Given the description of an element on the screen output the (x, y) to click on. 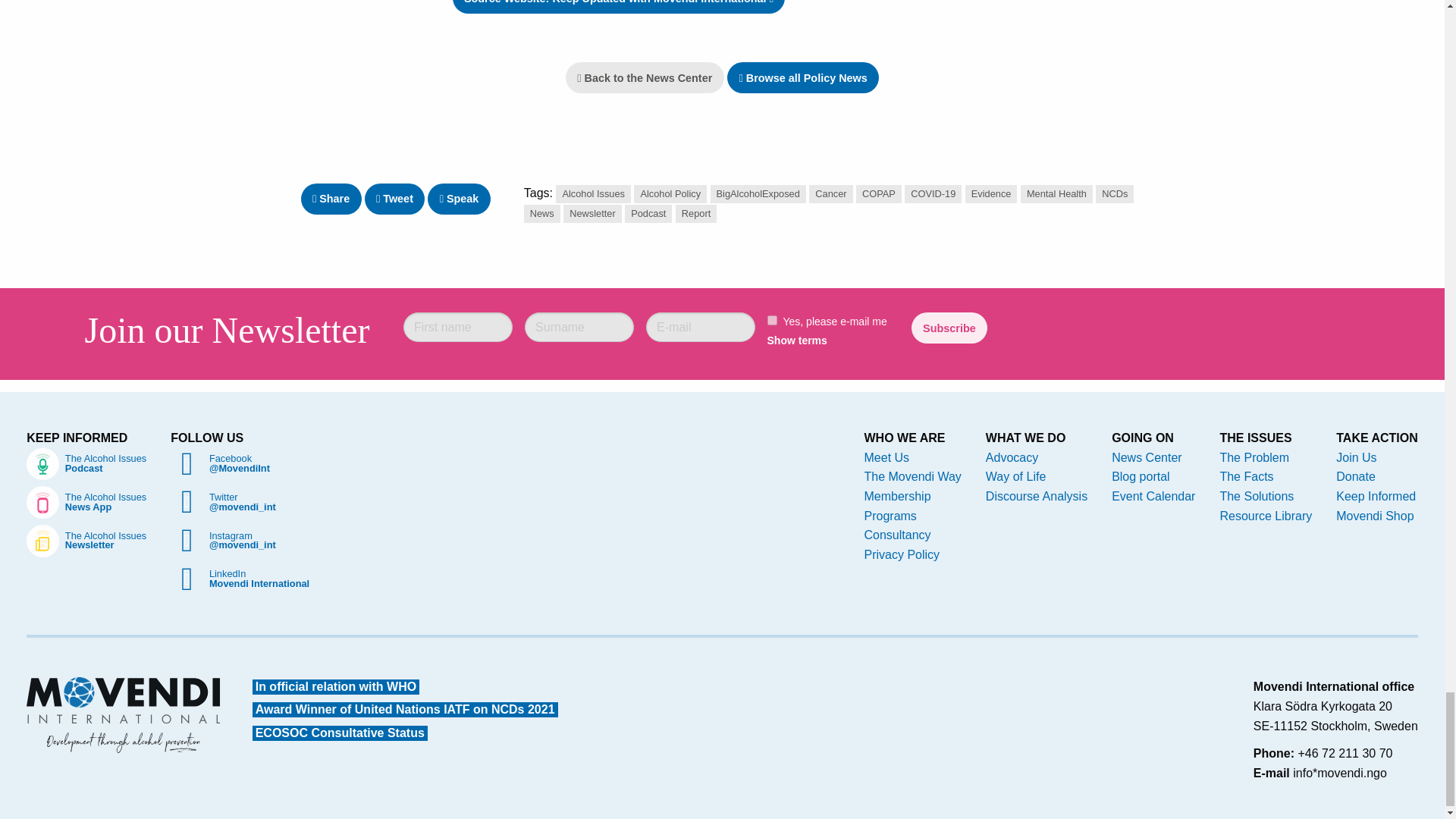
Subscribe (949, 327)
Y (772, 320)
